Given the description of an element on the screen output the (x, y) to click on. 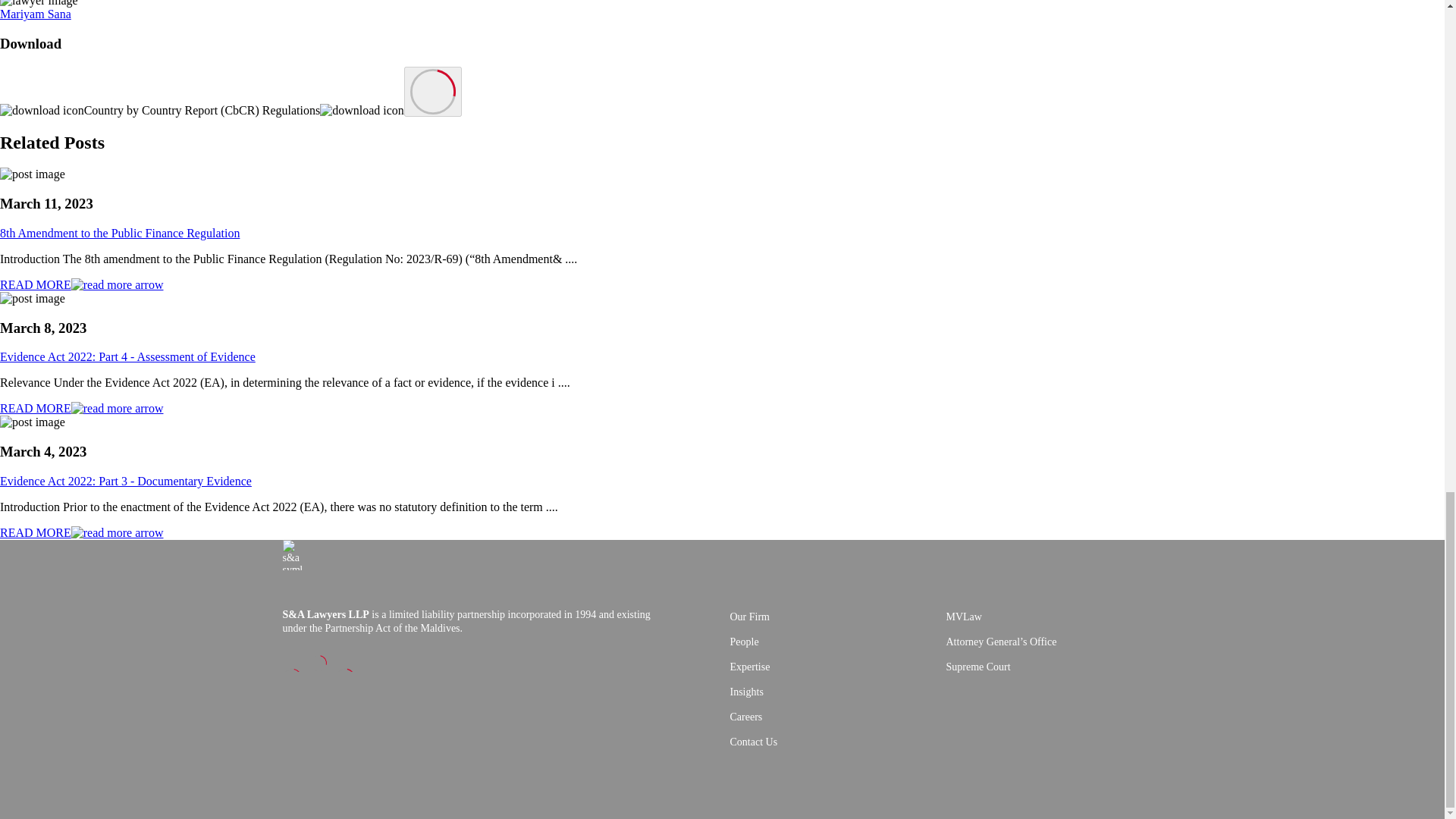
Our Firm (836, 616)
READ MORE (81, 408)
Evidence Act 2022: Part 3 - Documentary Evidence (125, 481)
READ MORE (81, 532)
Insights (836, 692)
Evidence Act 2022: Part 4 - Assessment of Evidence (128, 356)
Supreme Court (1053, 666)
MVLaw (1053, 616)
People (836, 641)
READ MORE (81, 284)
